Given the description of an element on the screen output the (x, y) to click on. 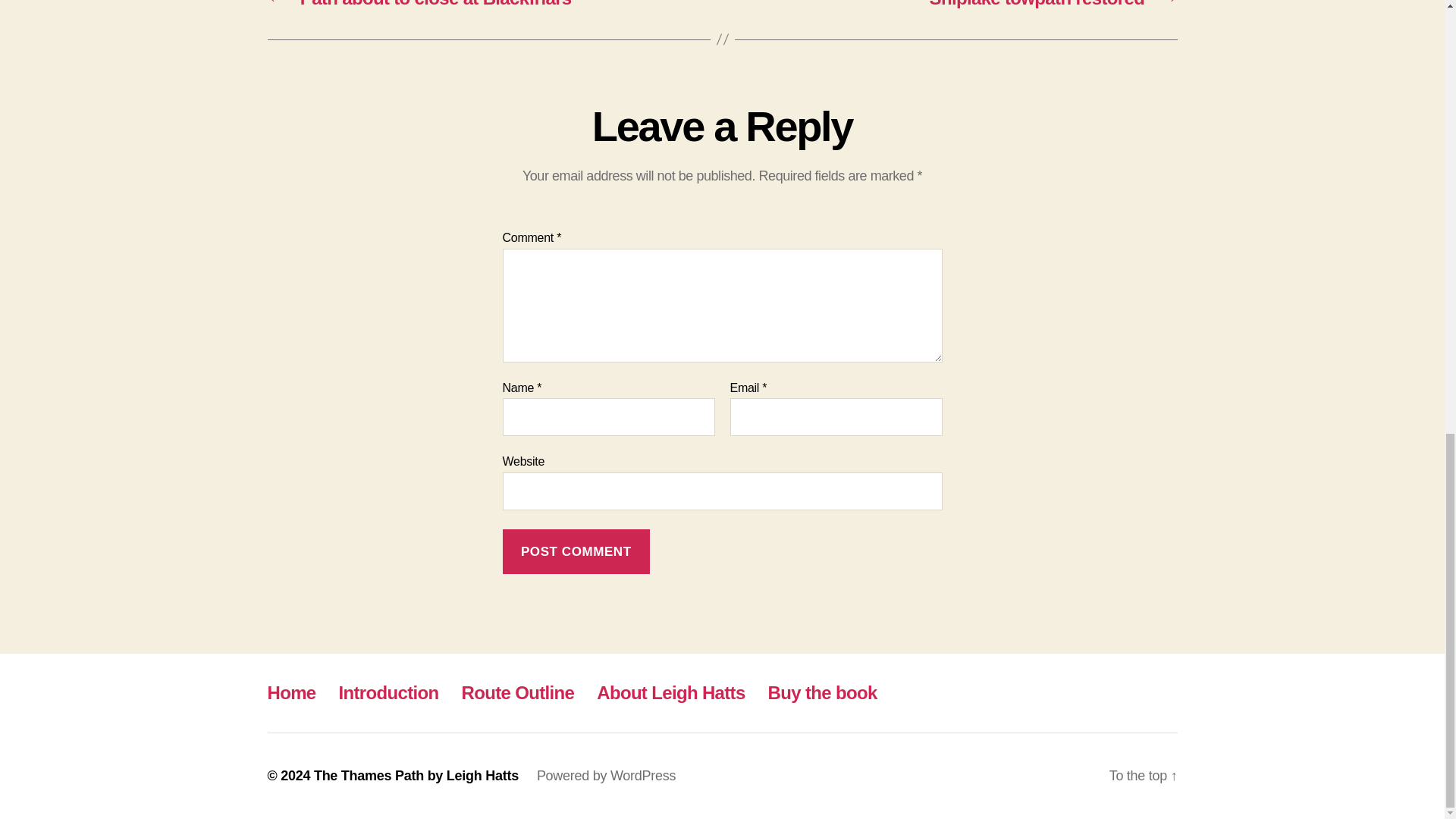
Powered by WordPress (606, 775)
The Thames Path by Leigh Hatts (416, 775)
Route Outline (518, 692)
Home (290, 692)
Introduction (389, 692)
Post Comment (575, 551)
Post Comment (575, 551)
Buy the book (822, 692)
About Leigh Hatts (670, 692)
